Given the description of an element on the screen output the (x, y) to click on. 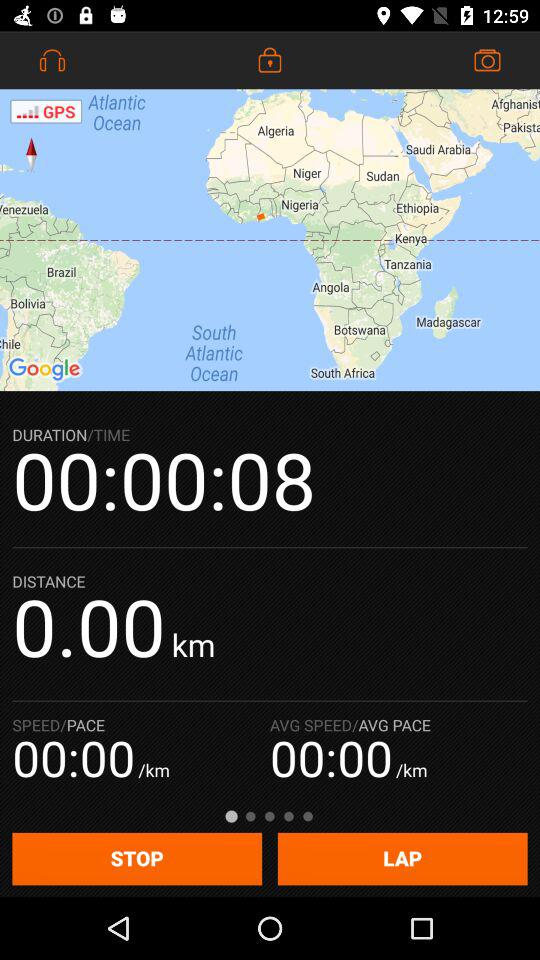
click stop left to lap (136, 859)
click on the lap option (403, 859)
